Given the description of an element on the screen output the (x, y) to click on. 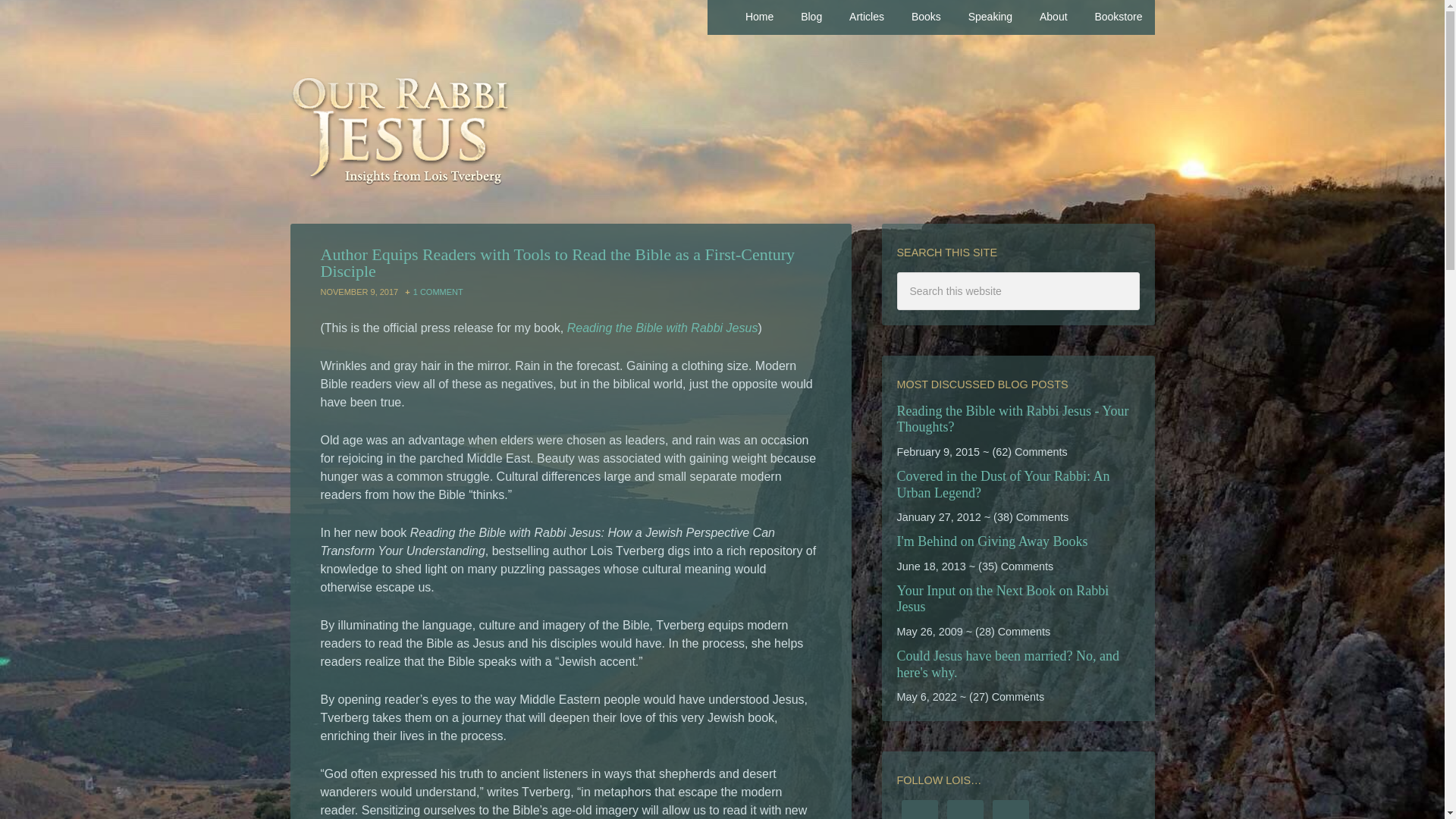
Your Input on the Next Book on Rabbi Jesus (1002, 599)
1 COMMENT (438, 291)
Articles (866, 17)
Covered in the Dust of Your Rabbi: An Urban Legend? (1002, 484)
Reading the Bible with Rabbi Jesus (662, 327)
Home (759, 17)
Speaking (990, 17)
Bookstore (1117, 17)
OUR RABBI JESUS (721, 136)
About (1053, 17)
Reading the Bible with Rabbi Jesus - Your Thoughts? (1012, 418)
